Given the description of an element on the screen output the (x, y) to click on. 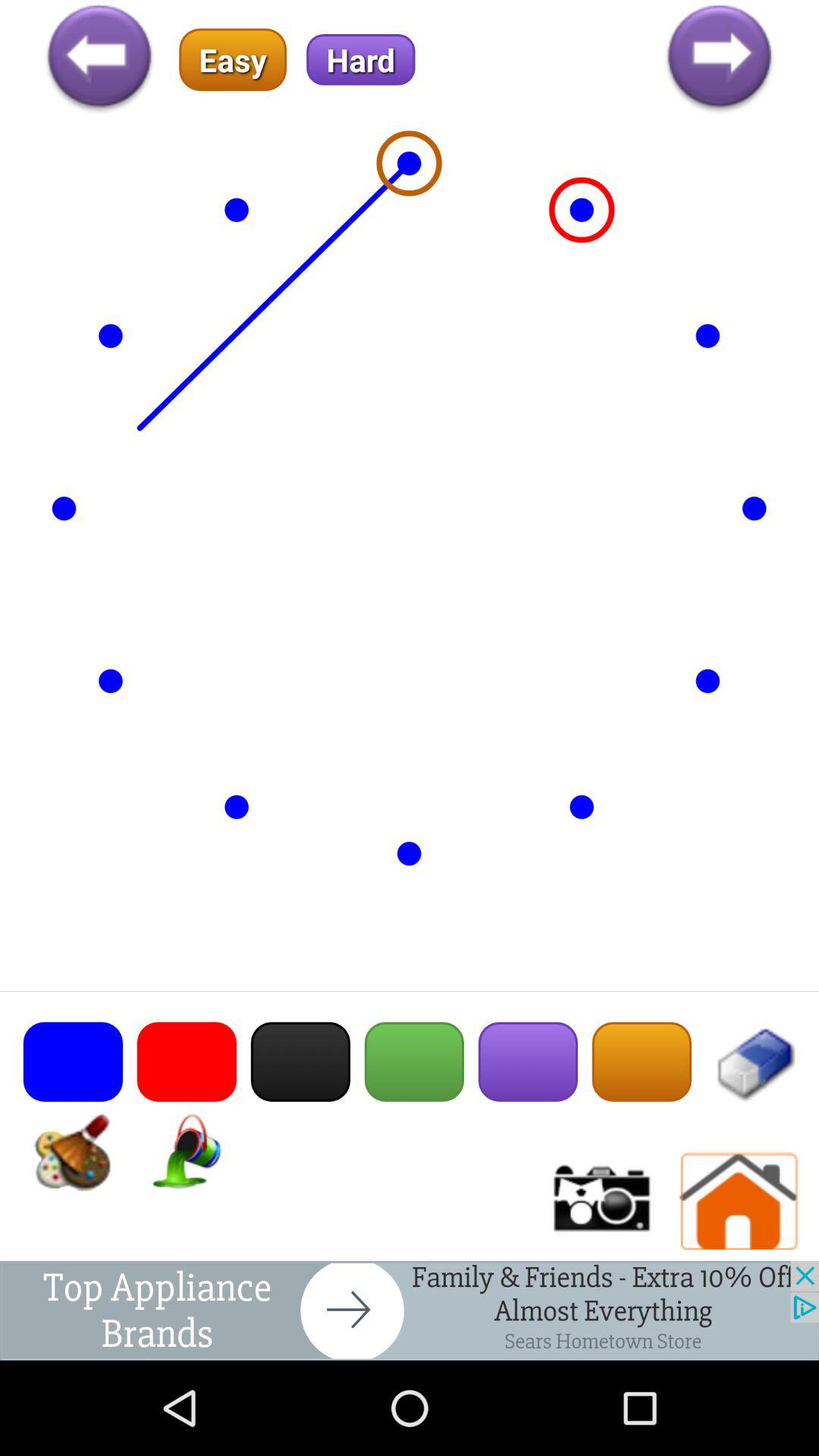
go to next box (409, 1310)
